Given the description of an element on the screen output the (x, y) to click on. 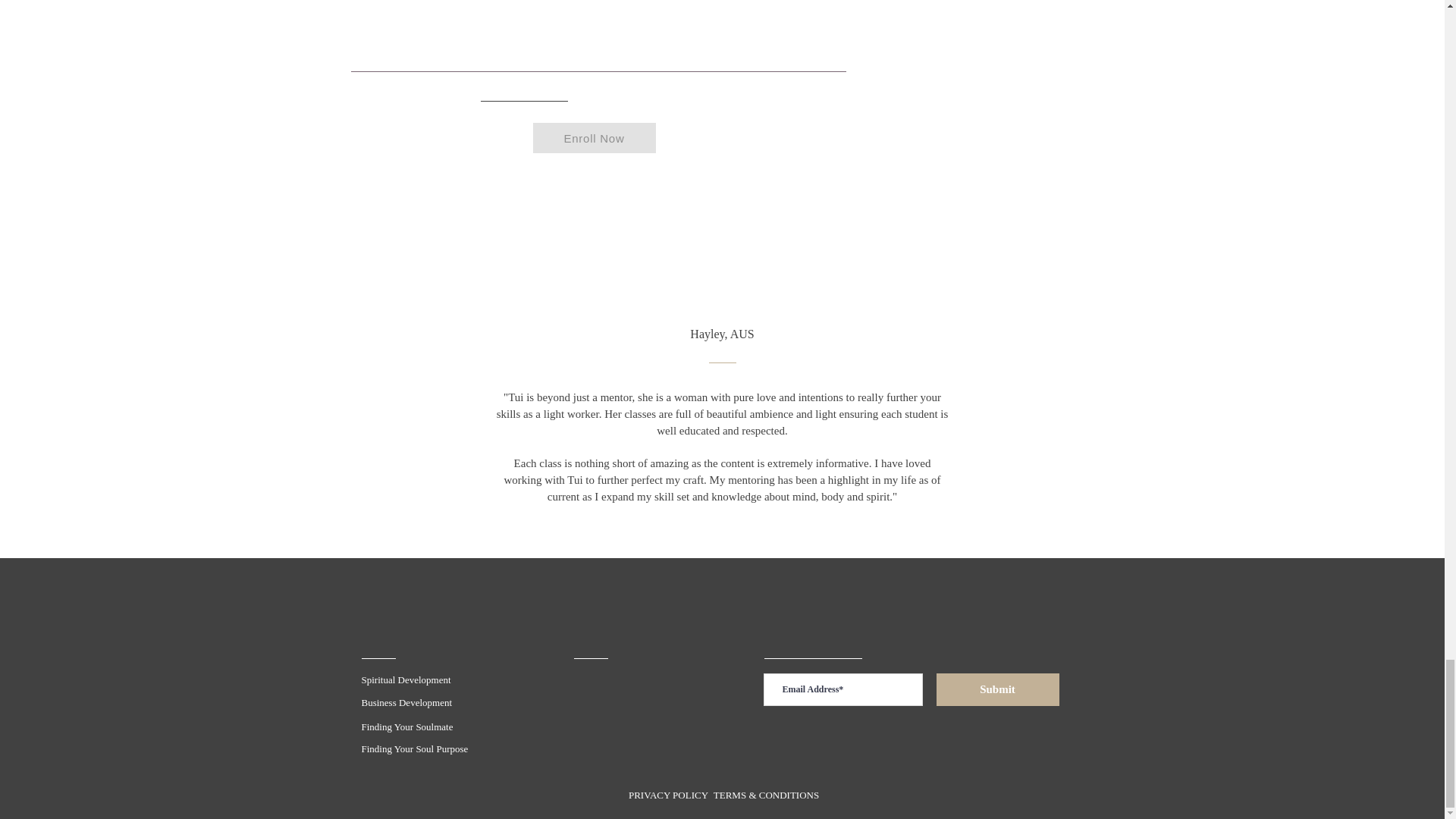
PRIVACY POLICY (667, 794)
Spiritual Development (405, 679)
Business Development (406, 702)
Enroll Now (593, 137)
Submit (997, 689)
Finding Your Soul Purpose (414, 748)
Finding Your Soulmate (406, 726)
